Given the description of an element on the screen output the (x, y) to click on. 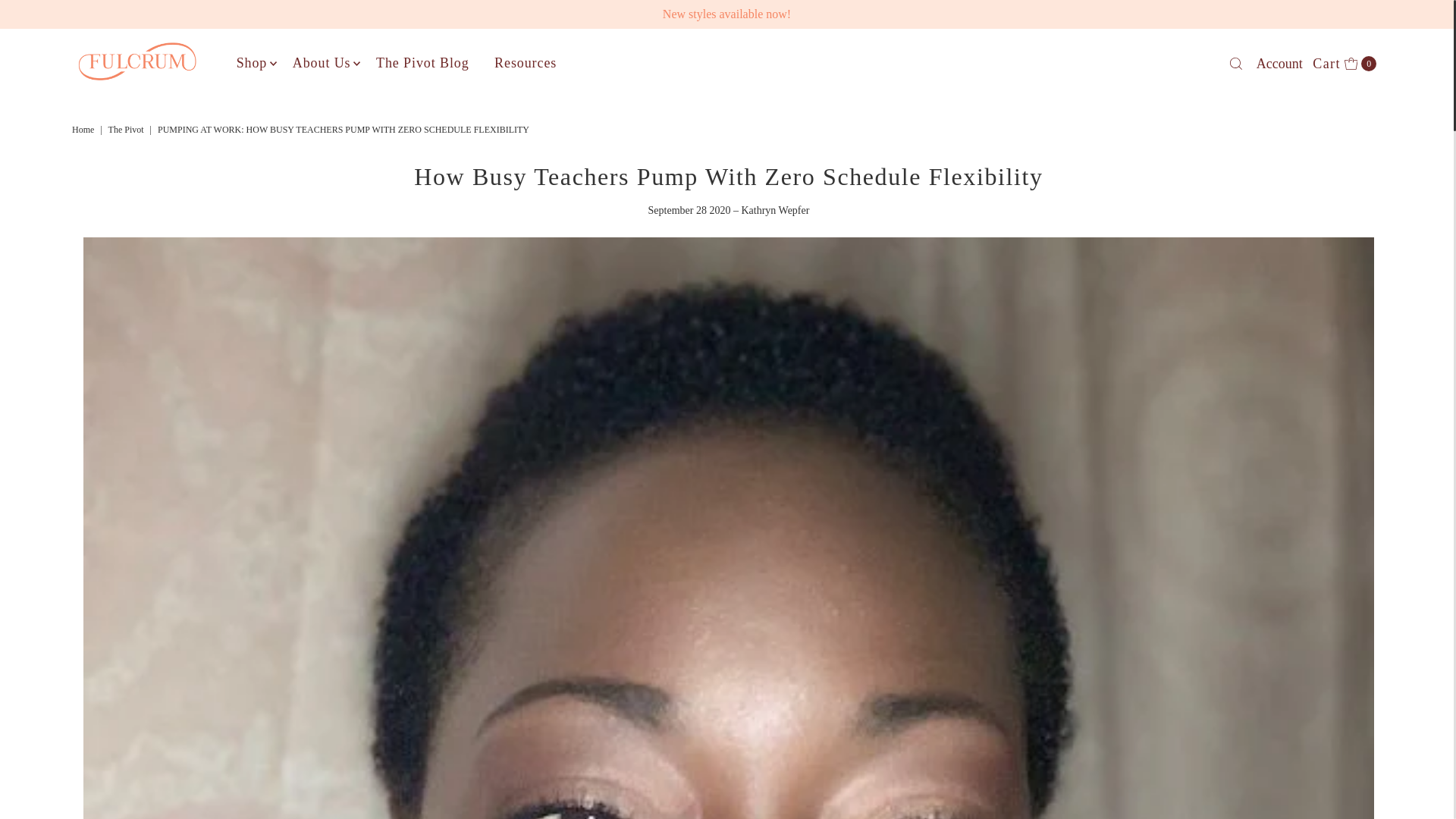
About Us (321, 62)
Shop (252, 62)
Home (1344, 63)
The Pivot Blog (84, 129)
The Pivot (422, 62)
Home (127, 129)
Resources (84, 129)
Account (525, 62)
